Given the description of an element on the screen output the (x, y) to click on. 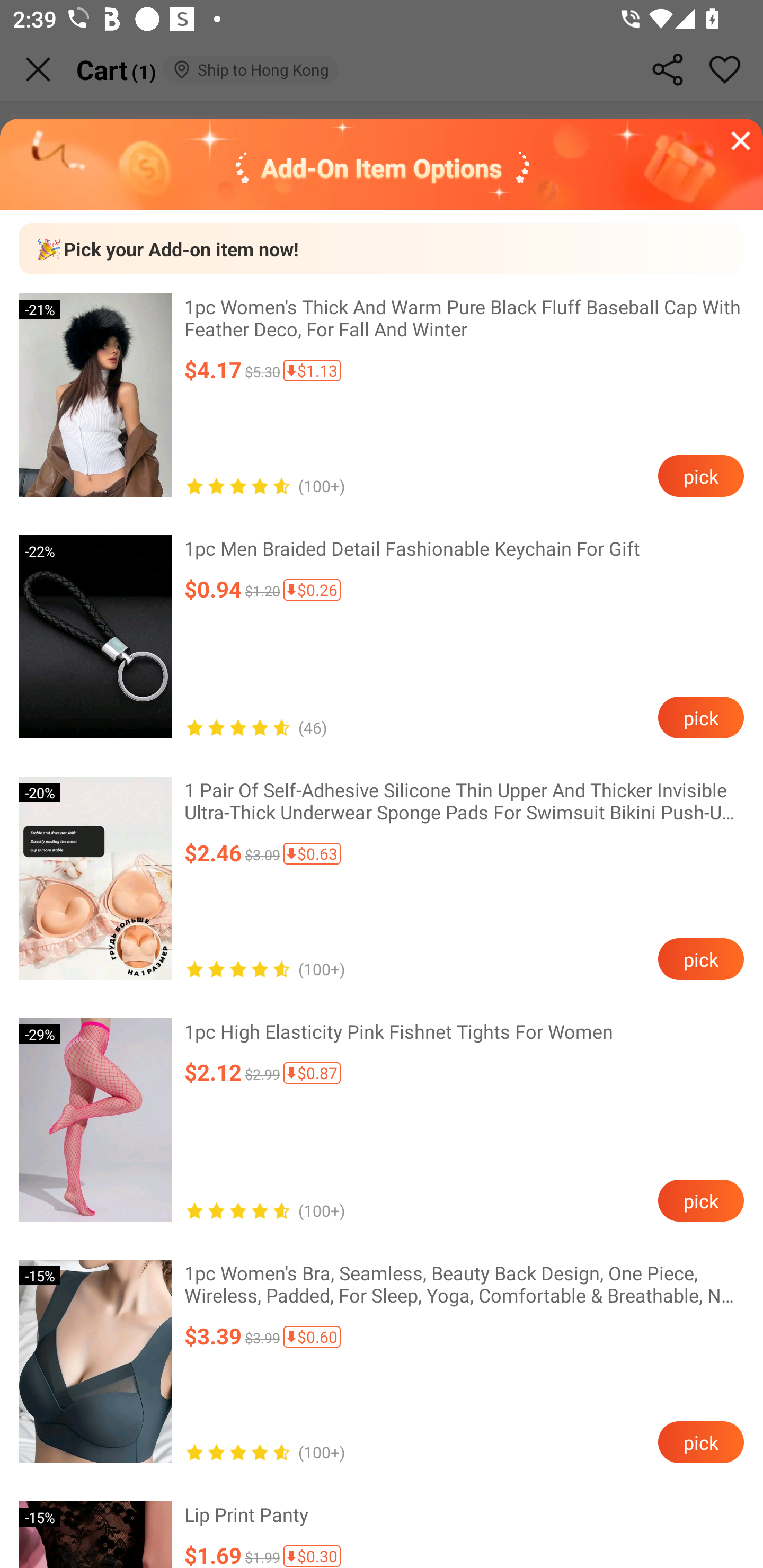
Pick your Add-on item now! (381, 248)
pick (700, 475)
pick (700, 717)
pick (700, 958)
pick (700, 1200)
pick (700, 1441)
-15% Lip Print Panty $1.69 $1.99 $0.30 (381, 1524)
